Given the description of an element on the screen output the (x, y) to click on. 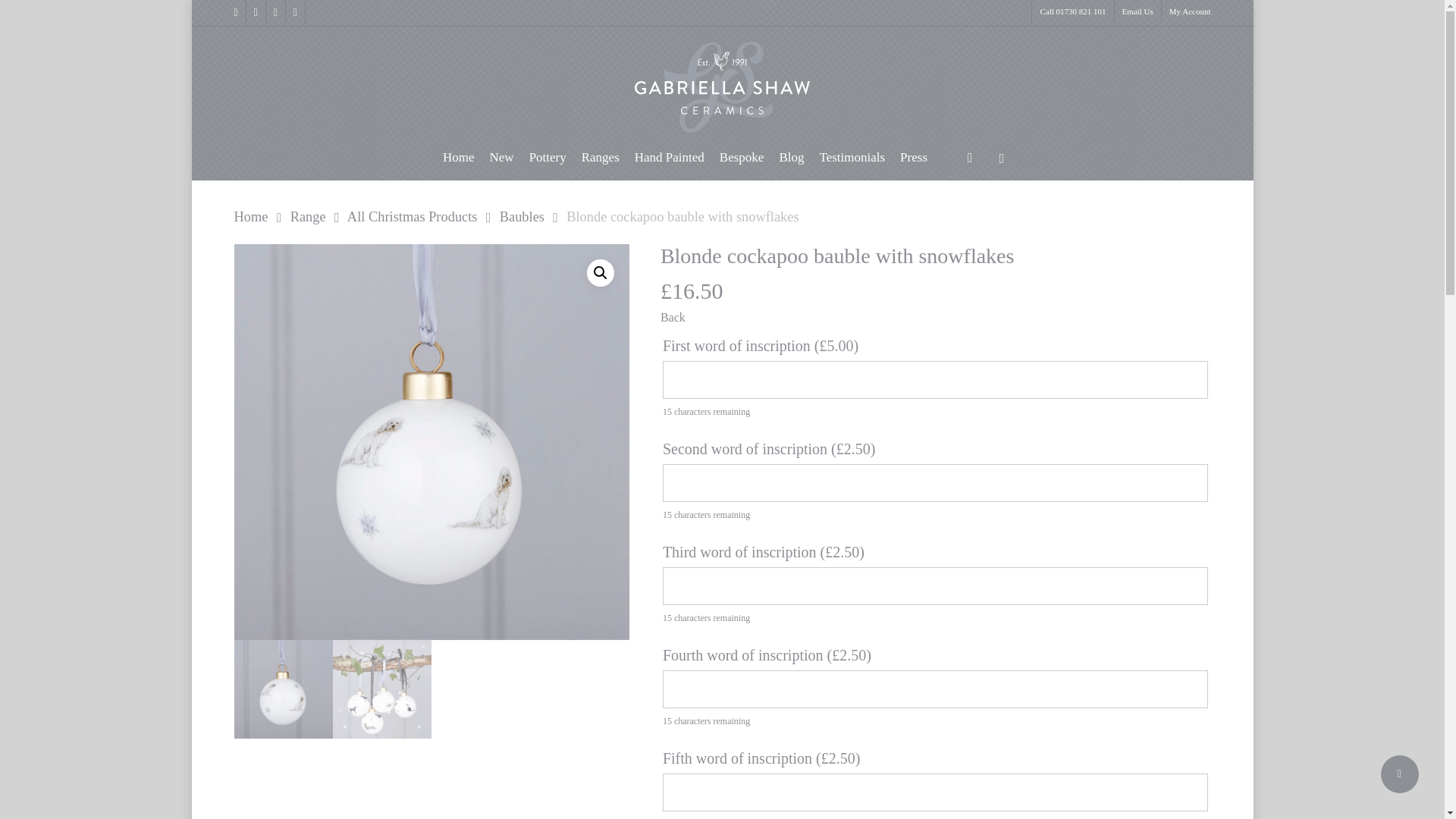
My Account (1185, 11)
Home (458, 164)
Email Us (1136, 11)
Call 01730 821 101 (1071, 11)
Pottery (547, 164)
